Given the description of an element on the screen output the (x, y) to click on. 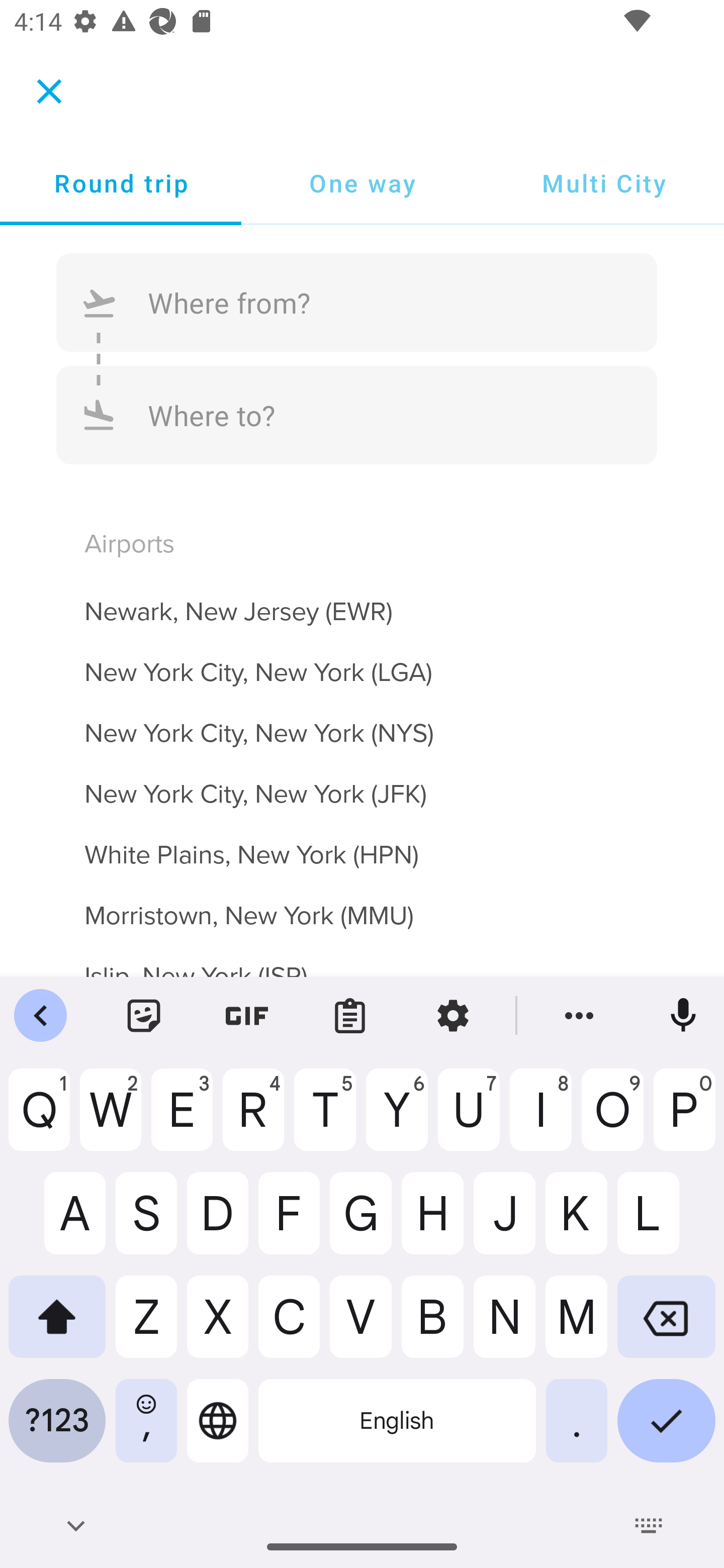
Cancel (49, 90)
One way (361, 183)
Multi City (603, 183)
Where from? (356, 302)
Where to? (356, 414)
Newark, New Jersey (EWR) (361, 599)
New York City, New York (LGA) (361, 660)
New York City, New York (NYS) (361, 721)
New York City, New York (JFK) (361, 782)
White Plains, New York (HPN) (361, 843)
Morristown, New York (MMU) (361, 903)
